Given the description of an element on the screen output the (x, y) to click on. 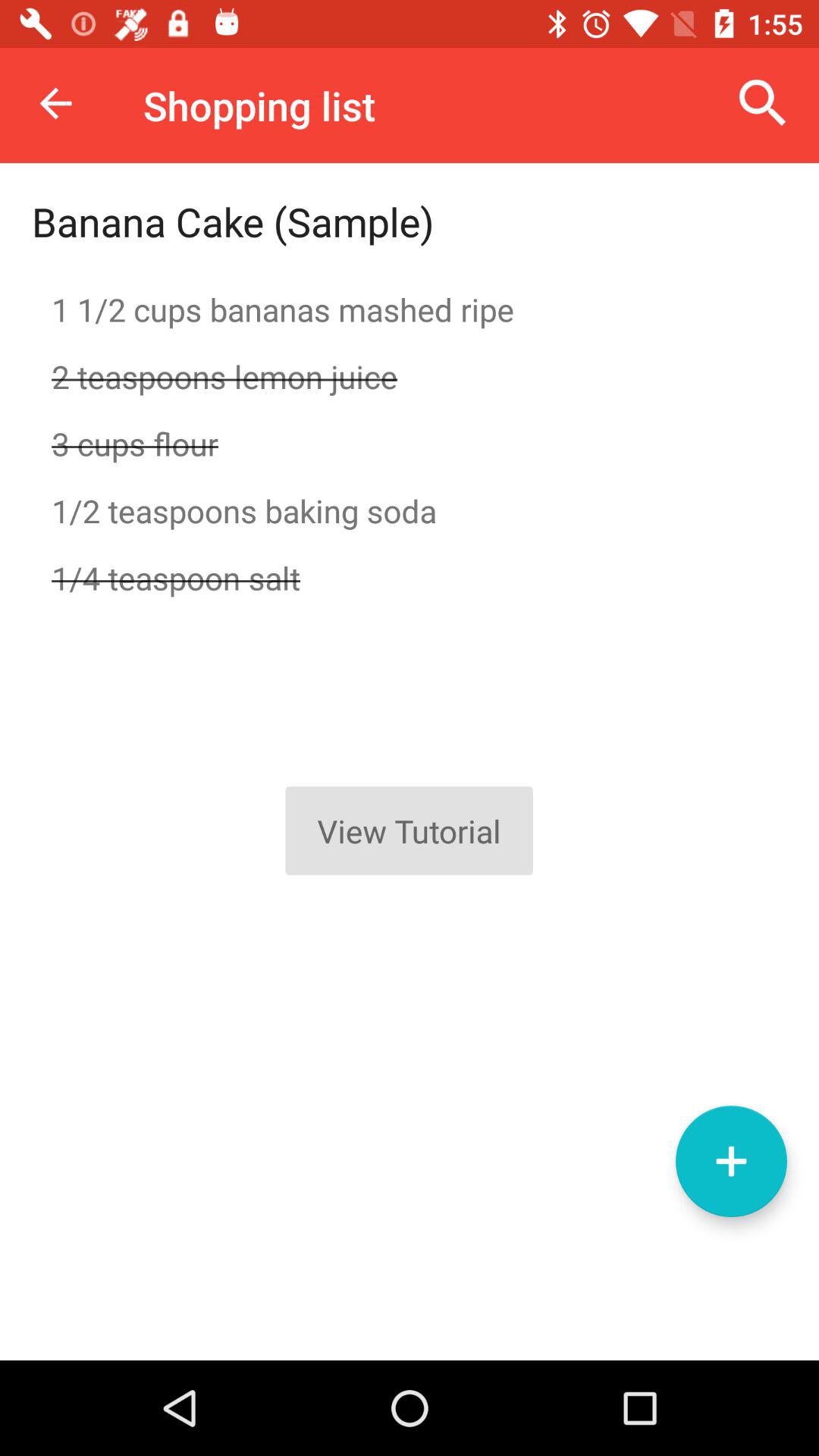
turn off icon to the right of shopping list icon (763, 103)
